Given the description of an element on the screen output the (x, y) to click on. 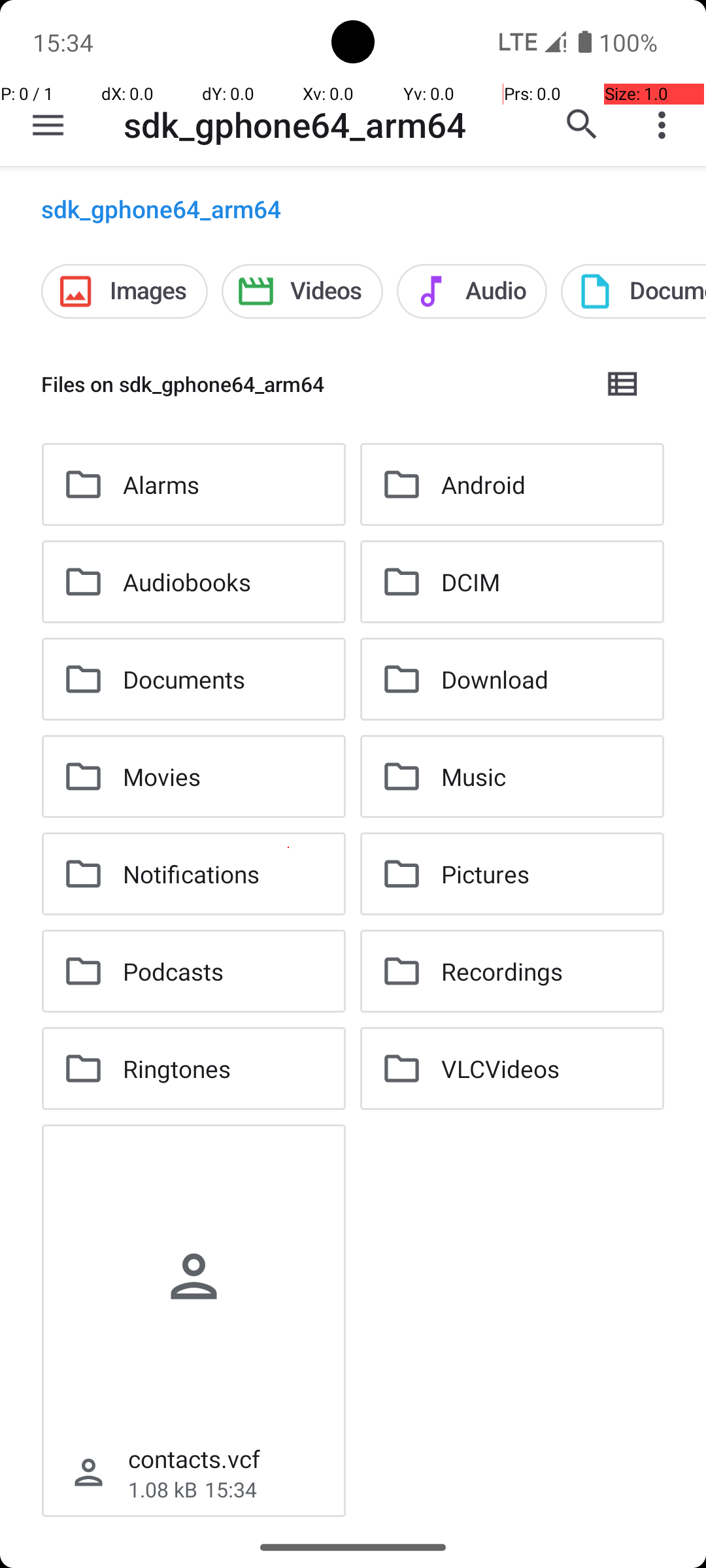
Files on sdk_gphone64_arm64 Element type: android.widget.TextView (311, 383)
Alarms Element type: android.widget.TextView (160, 484)
Android Element type: android.widget.TextView (483, 484)
Audiobooks Element type: android.widget.TextView (186, 581)
Pictures Element type: android.widget.TextView (485, 873)
Recordings Element type: android.widget.TextView (501, 970)
Ringtones Element type: android.widget.TextView (176, 1068)
VLCVideos Element type: android.widget.TextView (500, 1068)
contacts.vcf Element type: android.widget.TextView (194, 1458)
1.08 kB Element type: android.widget.TextView (162, 1489)
